Given the description of an element on the screen output the (x, y) to click on. 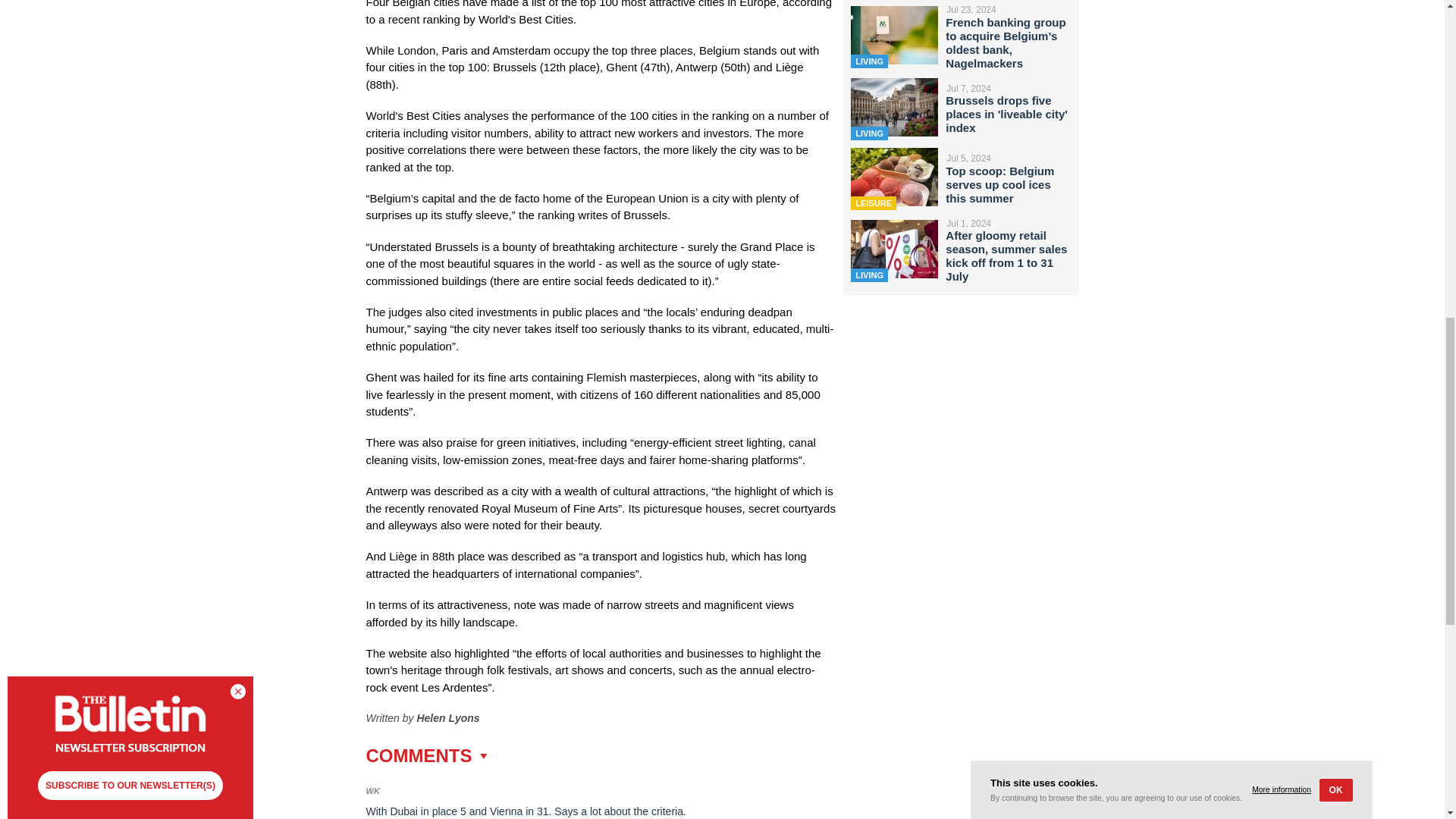
Top scoop: Belgium serves up cool ices this summer (999, 184)
Brussels drops five places in 'liveable city' index (1005, 114)
